Given the description of an element on the screen output the (x, y) to click on. 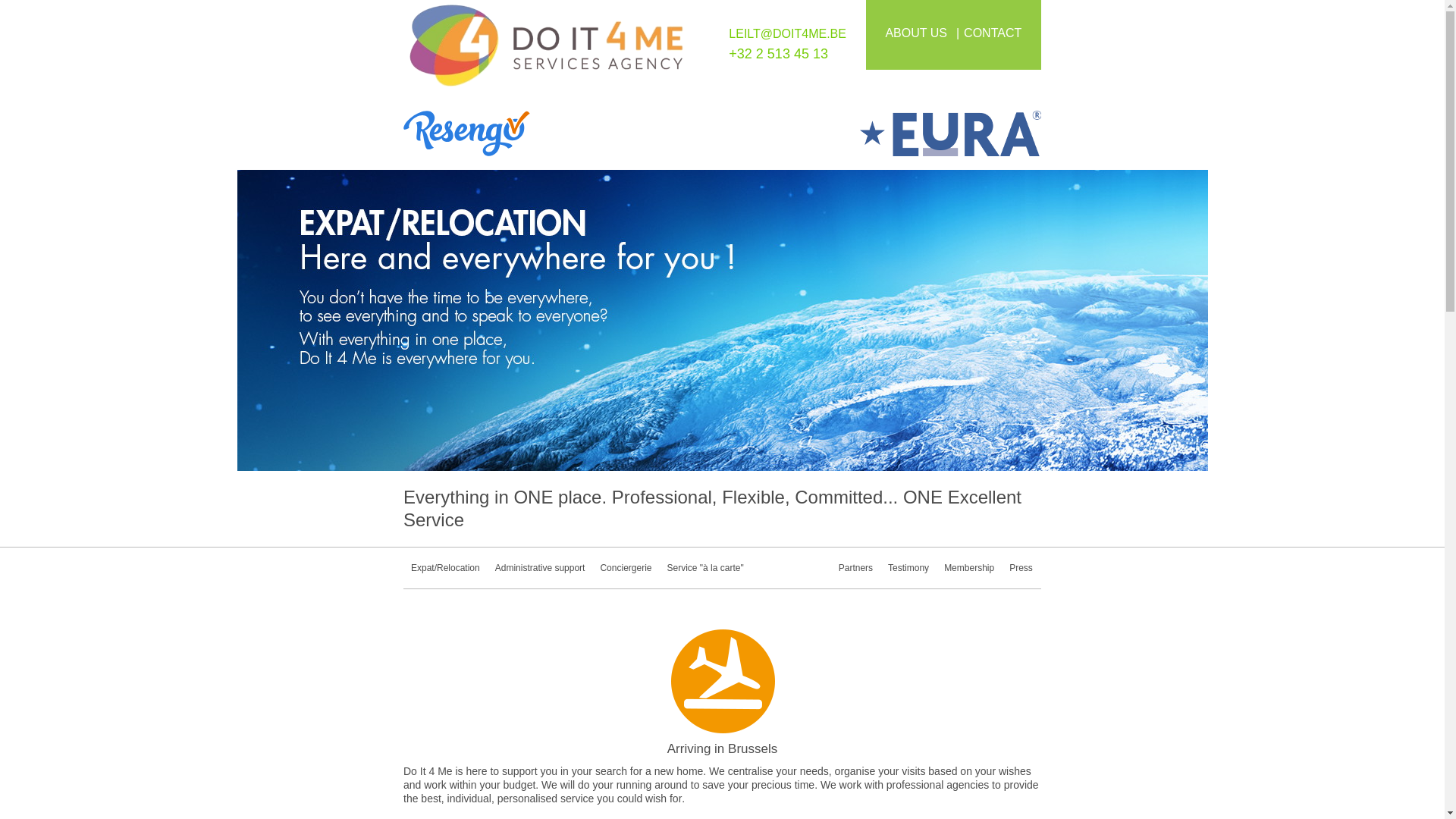
Conciergerie (625, 567)
Do it For me (546, 51)
Resengo (562, 133)
Testimony (908, 567)
Membership (968, 567)
Eura (881, 133)
Partners (855, 567)
Administrative support (539, 567)
ABOUT US (924, 33)
Press (1021, 567)
